Given the description of an element on the screen output the (x, y) to click on. 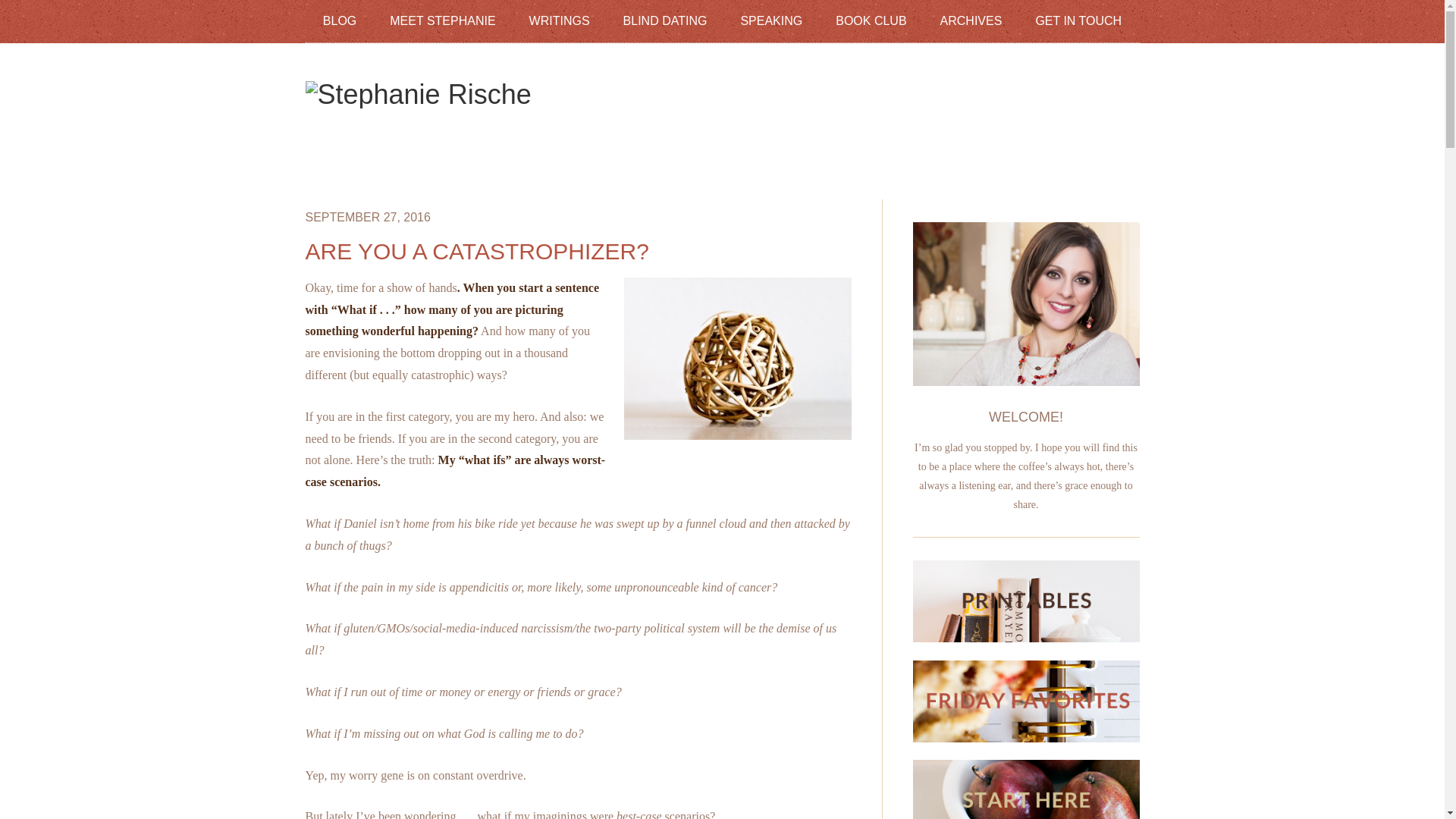
BLIND DATING (665, 20)
GET IN TOUCH (1078, 20)
MEET STEPHANIE (442, 20)
Stephanie Rische (417, 93)
BOOK CLUB (870, 20)
BLOG (339, 20)
Stephanie Rische (417, 94)
SPEAKING (770, 20)
ARCHIVES (971, 20)
WRITINGS (559, 20)
